Given the description of an element on the screen output the (x, y) to click on. 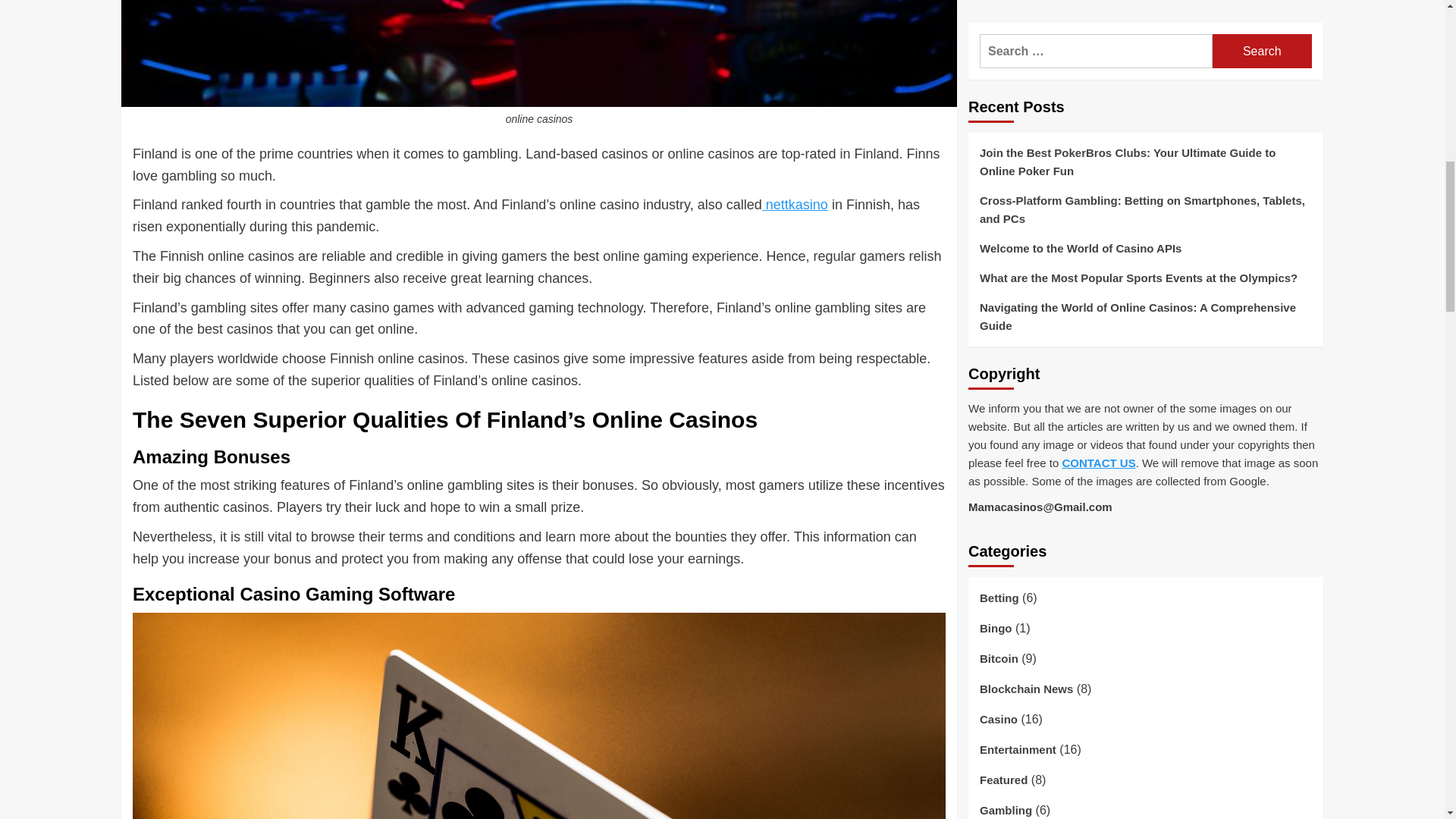
nettkasino (794, 204)
